Given the description of an element on the screen output the (x, y) to click on. 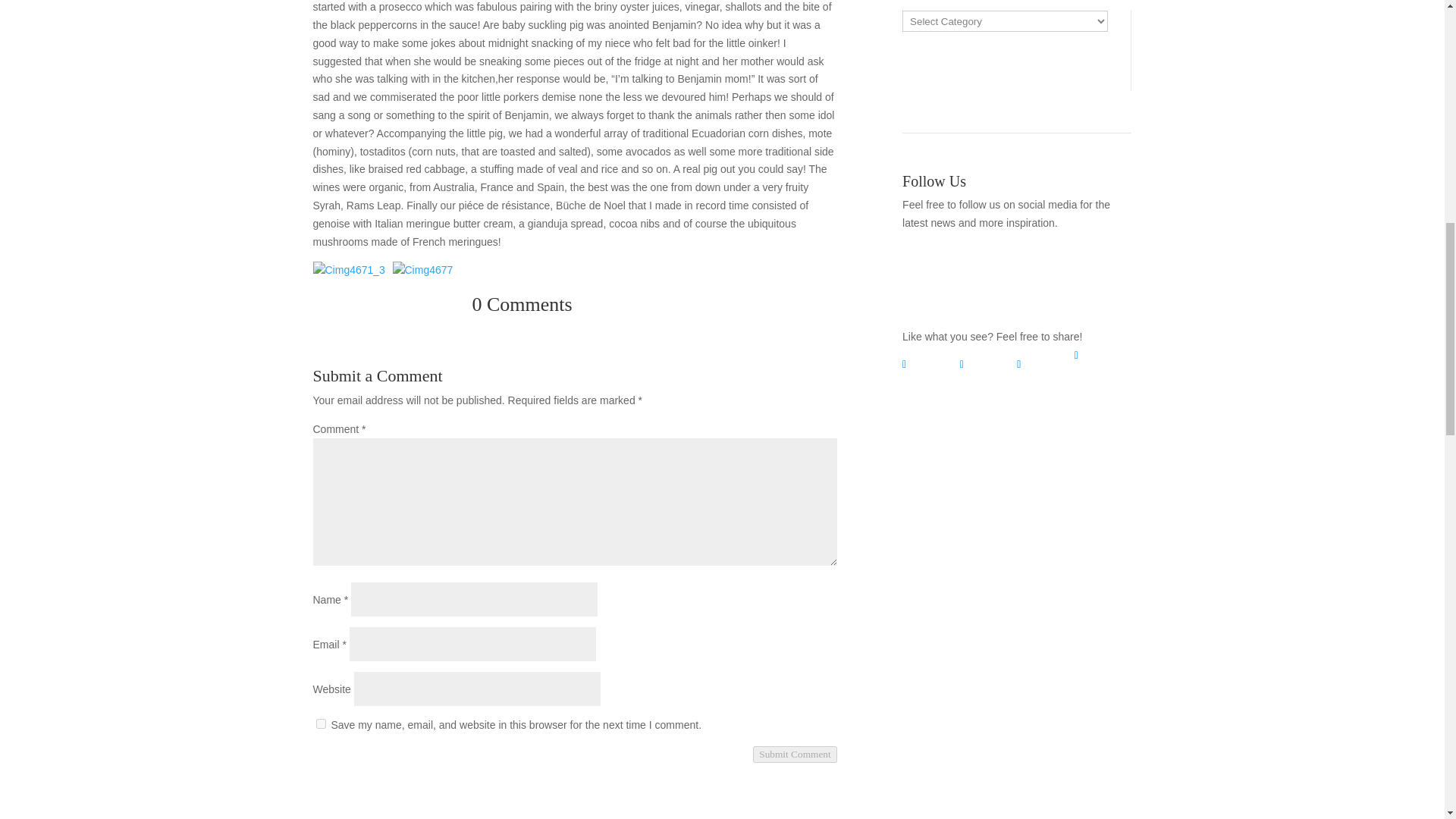
Follow on Instagram (1031, 277)
Submit Comment (793, 754)
Cimg4677 (430, 283)
yes (319, 723)
0 Comments (574, 308)
Copy URL (1103, 355)
Follow on Facebook (1001, 277)
Share Via Email (1045, 364)
Share On X (988, 364)
Share On Facebook (930, 364)
